Given the description of an element on the screen output the (x, y) to click on. 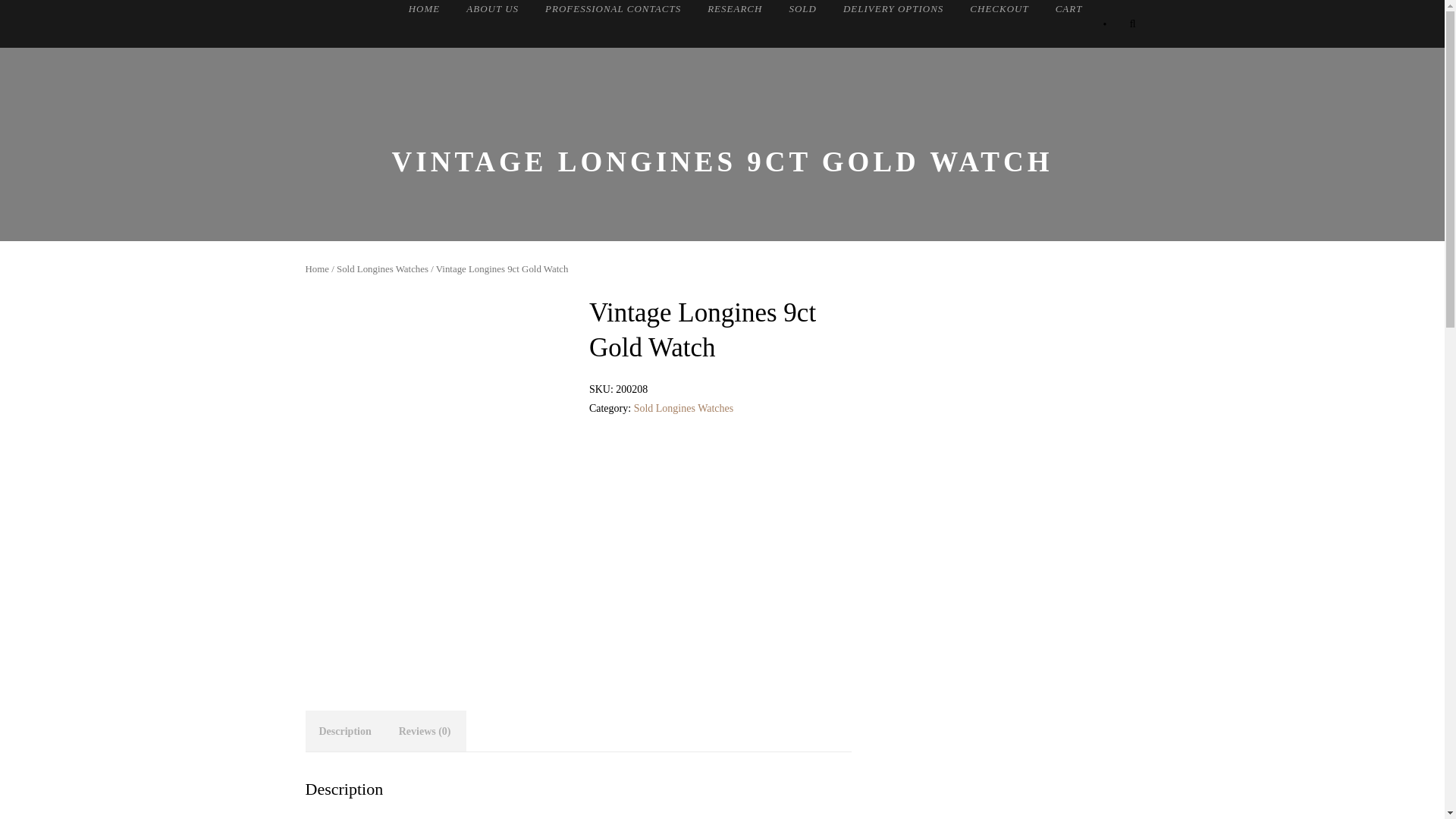
CART (1069, 10)
HOME (425, 10)
SOLD (802, 10)
RESEARCH (734, 10)
Home (316, 268)
PROFESSIONAL CONTACTS (612, 10)
DELIVERY OPTIONS (893, 10)
ABOUT US (491, 10)
CHECKOUT (998, 10)
Sold Longines Watches (382, 268)
